Given the description of an element on the screen output the (x, y) to click on. 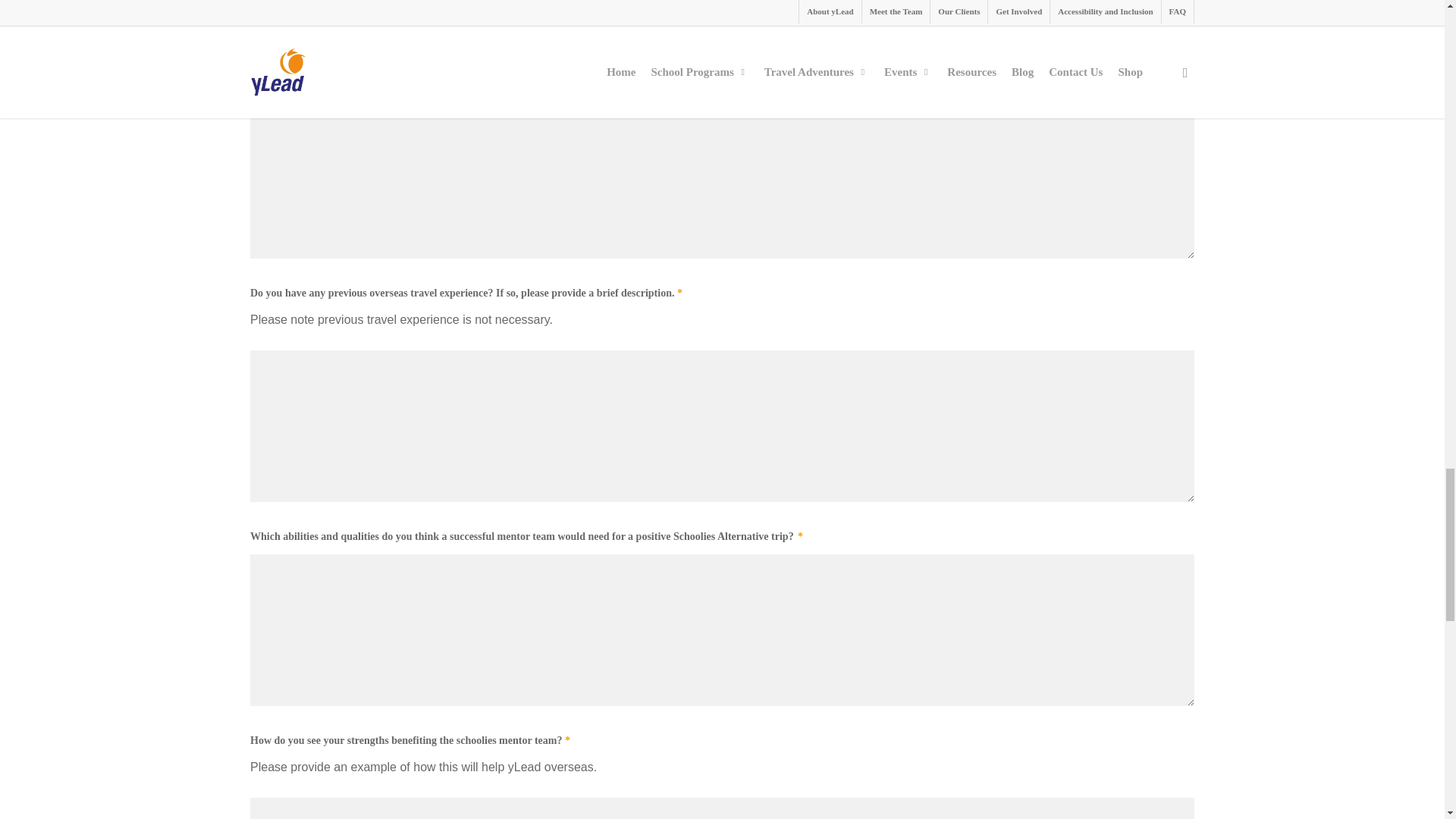
no (255, 45)
yes (255, 22)
